Given the description of an element on the screen output the (x, y) to click on. 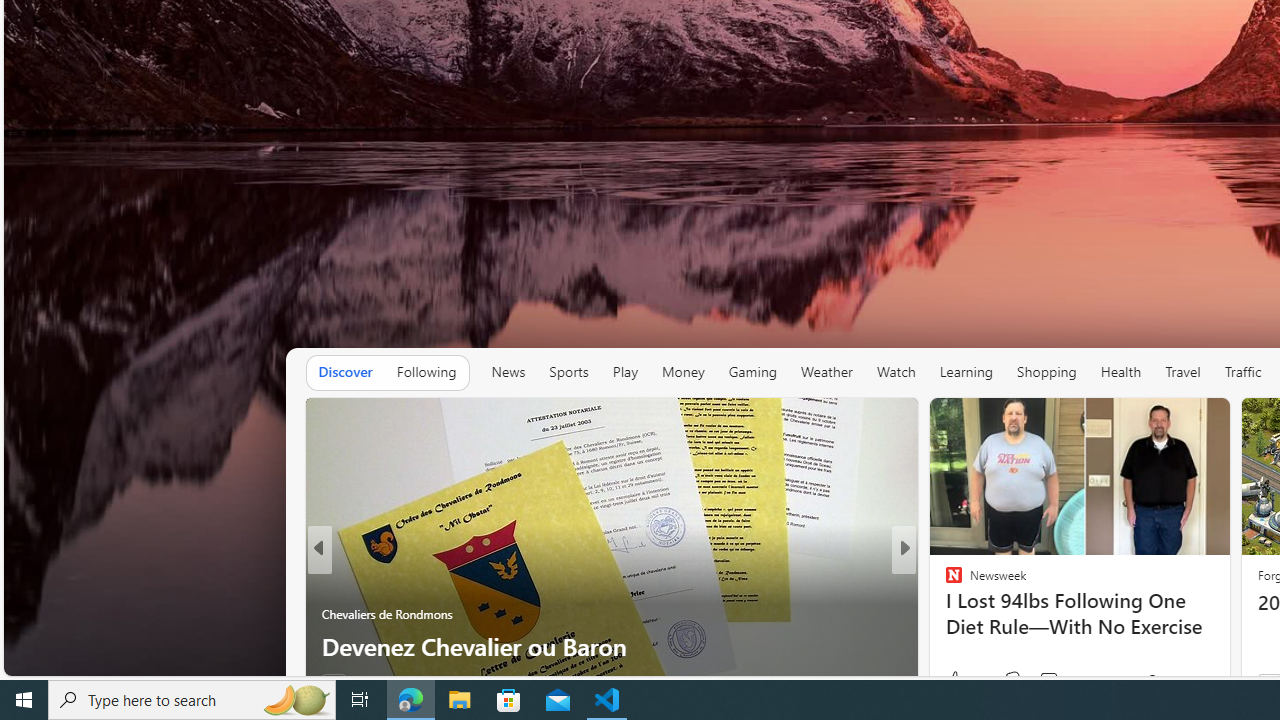
24/7 Wall St. (944, 581)
Ad (1269, 681)
Morning Carpool (944, 581)
Weather (826, 371)
Nordace (959, 614)
View comments 3 Comment (1036, 681)
View comments 18 Comment (1036, 681)
Learning (966, 372)
View comments 73 Comment (1042, 681)
Travel (1183, 371)
Newsweek (944, 581)
Watch (896, 372)
Shopping (1047, 371)
ETNT Mind+Body (944, 581)
Traffic (1243, 371)
